Given the description of an element on the screen output the (x, y) to click on. 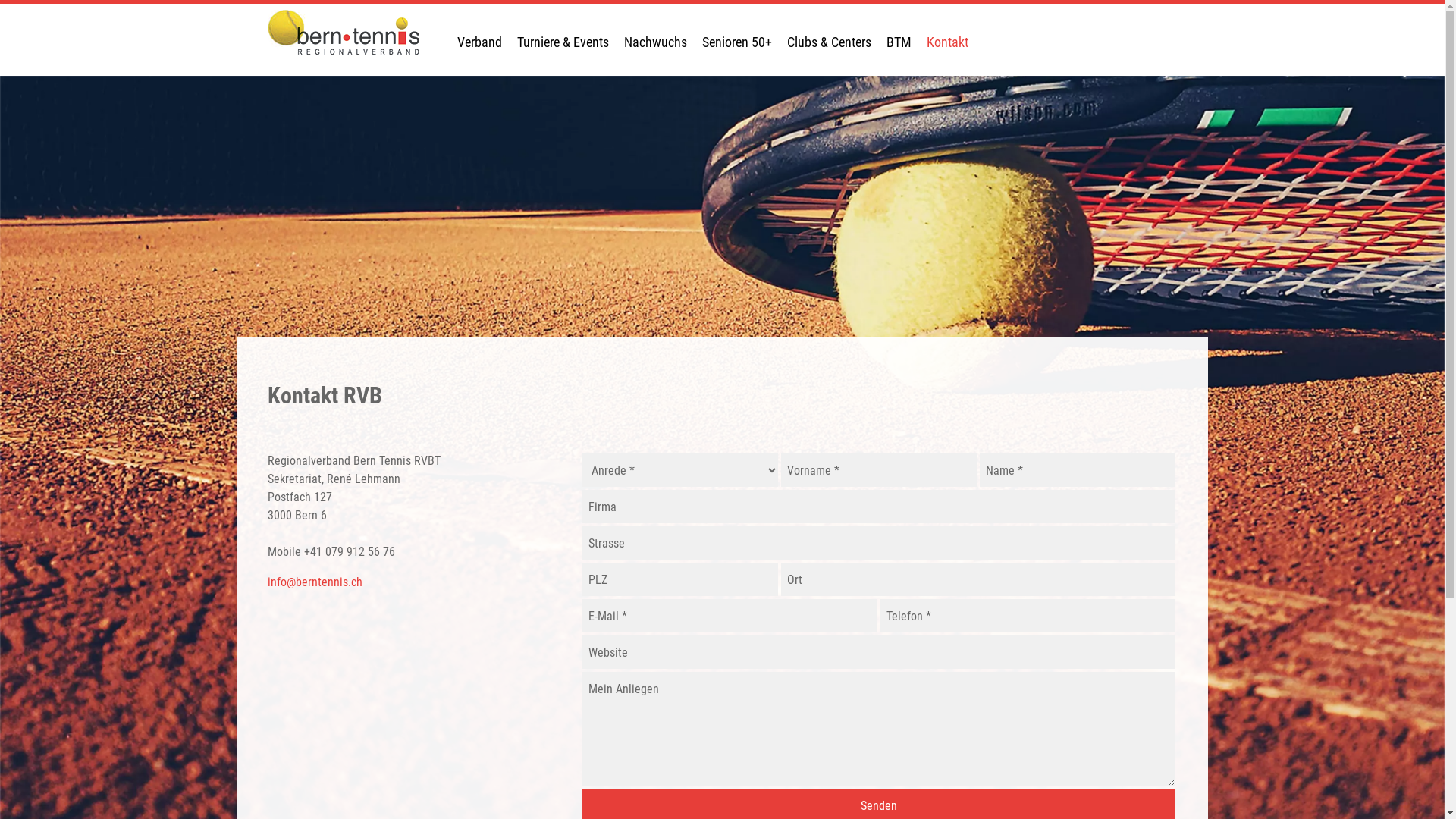
Regionalverband Berntennis Element type: hover (342, 31)
Turniere & Events Element type: text (562, 42)
info@berntennis.ch Element type: text (313, 581)
Verband Element type: text (478, 42)
Nachwuchs Element type: text (654, 42)
BTM Element type: text (898, 42)
Kontakt Element type: text (947, 42)
Senioren 50+ Element type: text (736, 42)
Clubs & Centers Element type: text (828, 42)
